Given the description of an element on the screen output the (x, y) to click on. 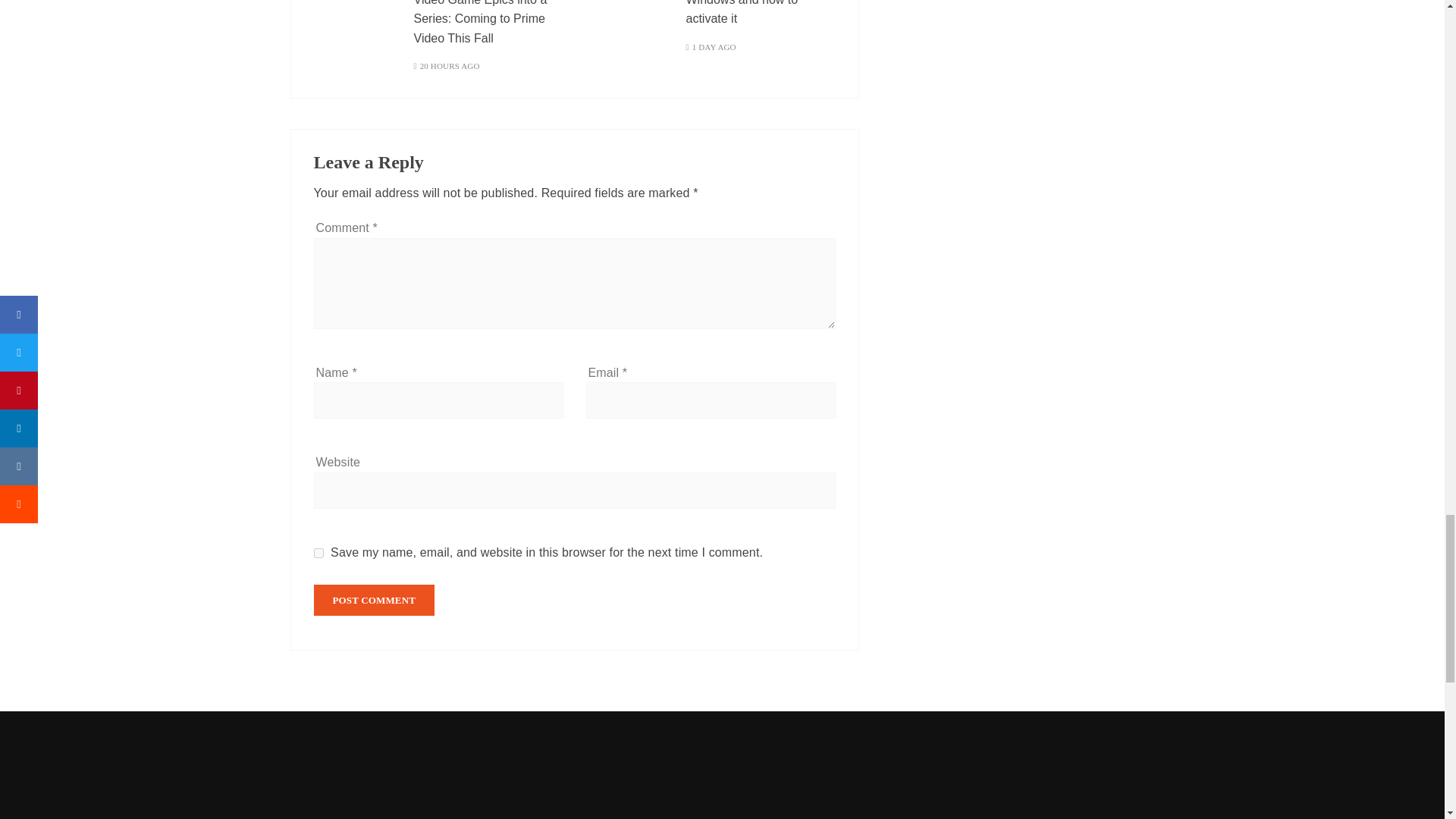
yes (318, 552)
Post Comment (374, 599)
